Given the description of an element on the screen output the (x, y) to click on. 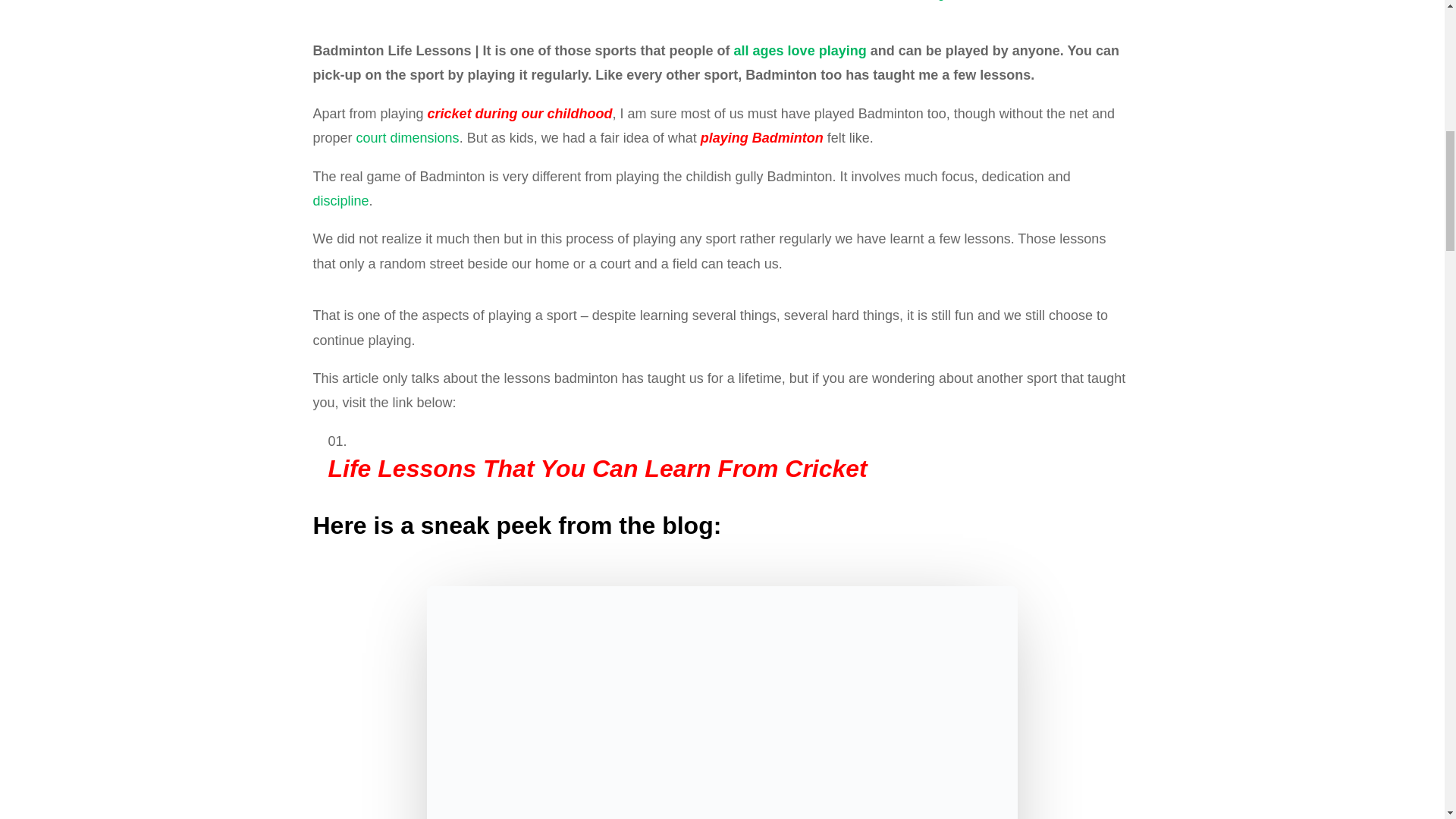
court dimensions (408, 137)
cricket during our childhood (520, 113)
discipline (340, 200)
Life Lessons That You Can Learn From Cricket (596, 468)
all ages love playing (799, 50)
playing Badminton (762, 137)
